Given the description of an element on the screen output the (x, y) to click on. 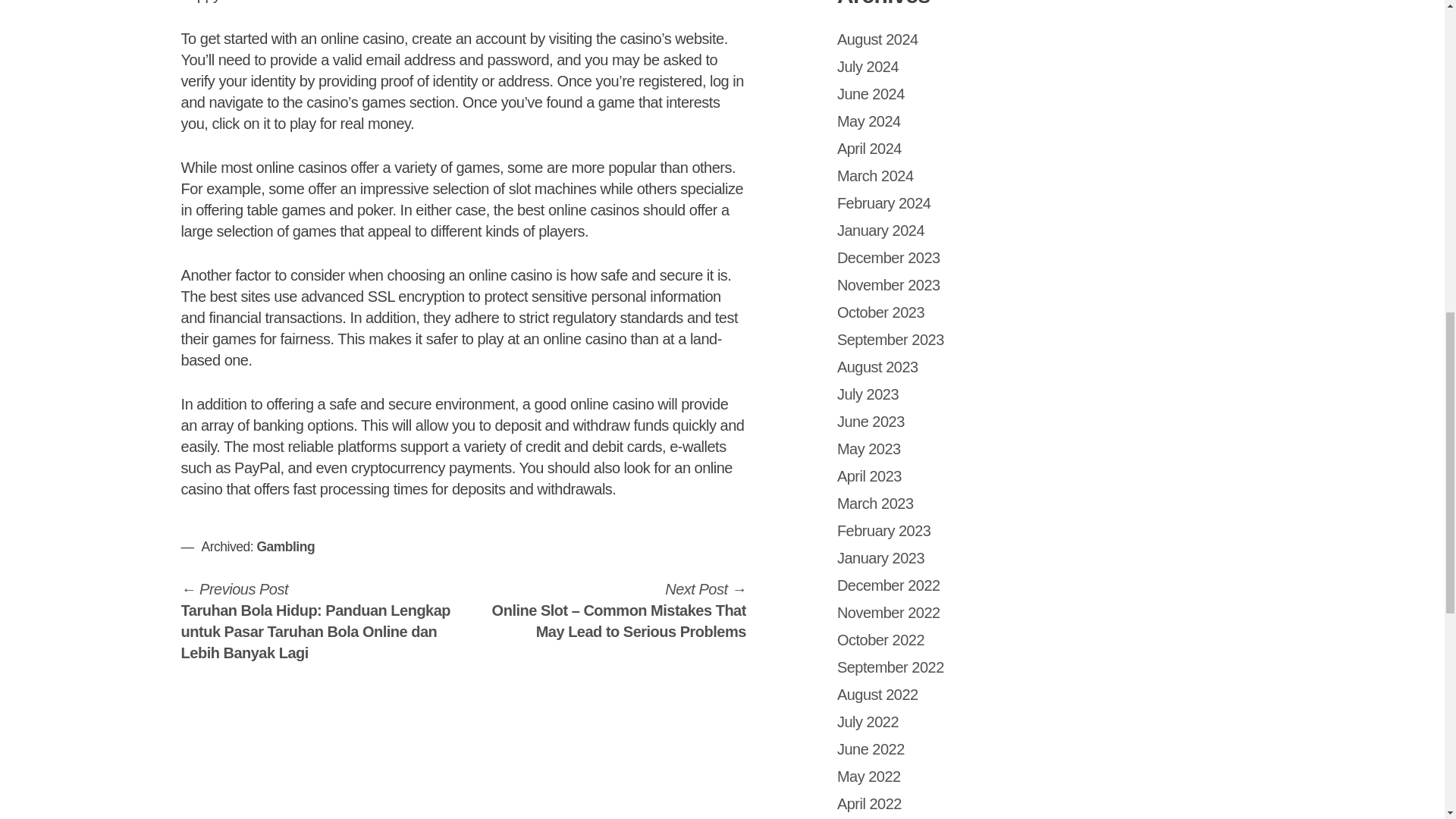
February 2023 (884, 530)
March 2023 (875, 503)
July 2023 (867, 393)
October 2022 (880, 639)
April 2023 (869, 475)
September 2023 (890, 339)
April 2024 (869, 148)
October 2023 (880, 312)
December 2022 (888, 585)
January 2024 (880, 230)
